Given the description of an element on the screen output the (x, y) to click on. 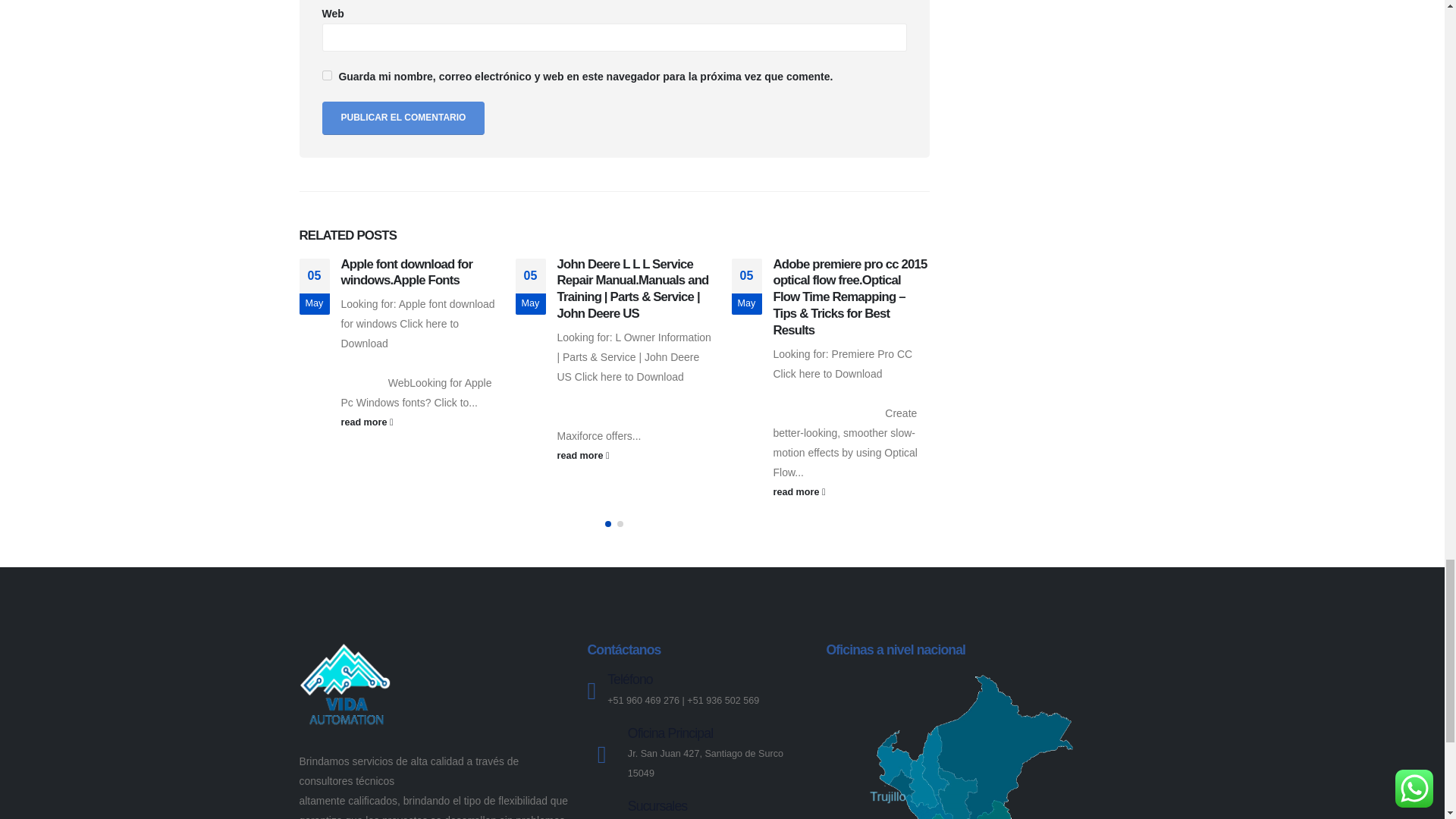
yes (326, 75)
Publicar el comentario (402, 117)
